Given the description of an element on the screen output the (x, y) to click on. 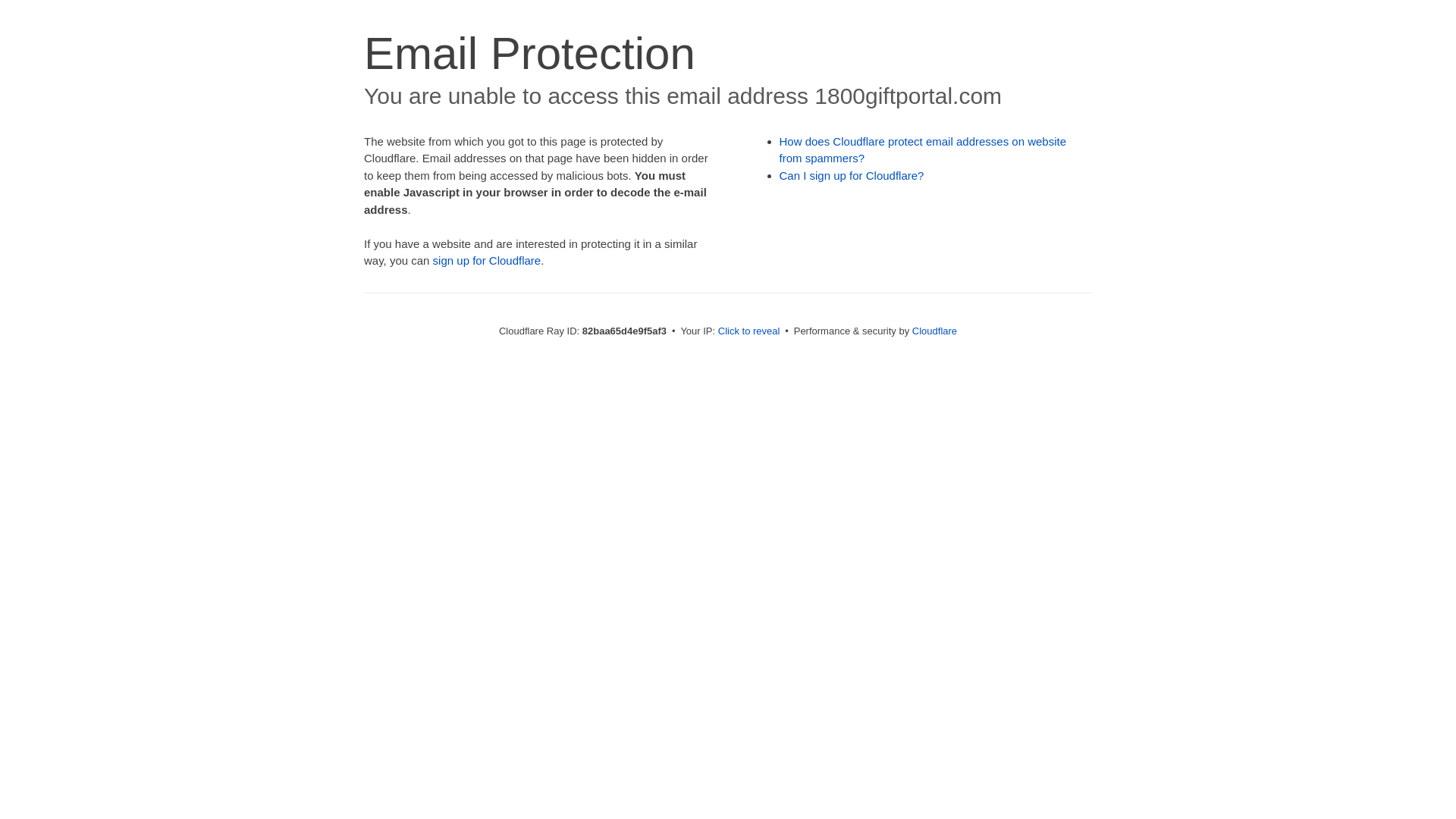
Cloudflare Element type: text (934, 330)
sign up for Cloudflare Element type: text (487, 260)
Can I sign up for Cloudflare? Element type: text (851, 175)
Click to reveal Element type: text (749, 330)
